Given the description of an element on the screen output the (x, y) to click on. 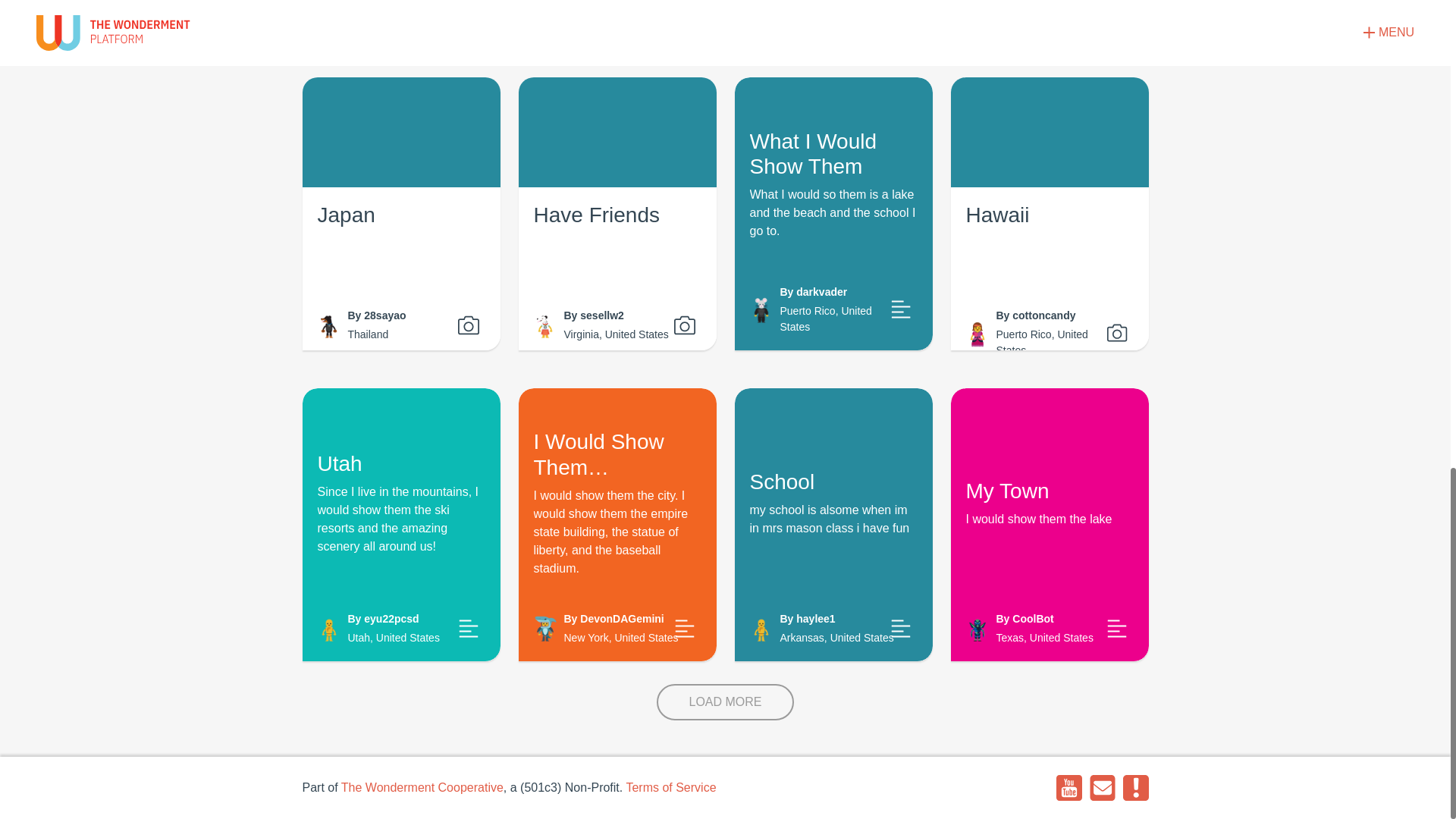
LOAD MORE (1049, 19)
